Given the description of an element on the screen output the (x, y) to click on. 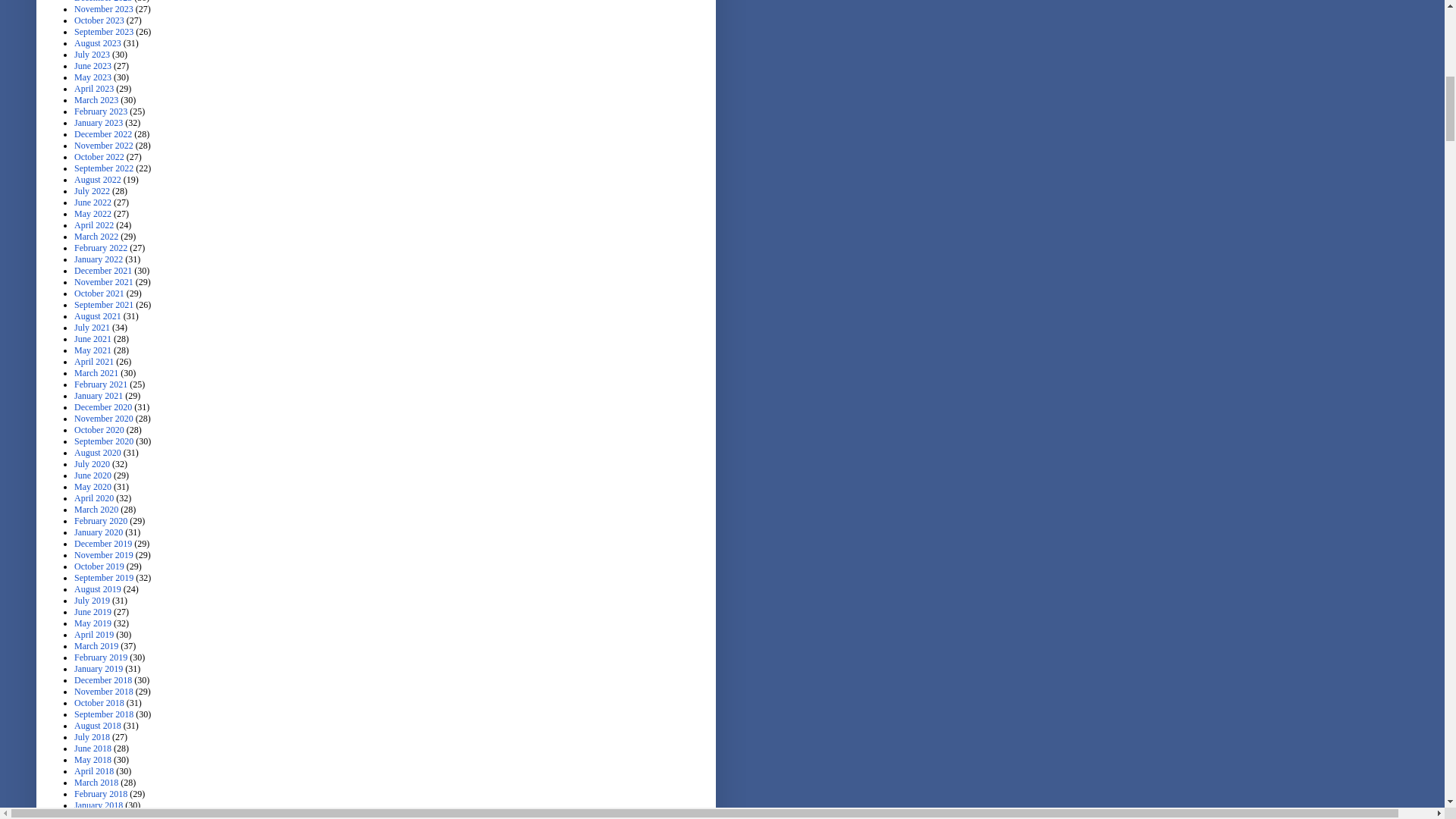
November 2023 (103, 9)
September 2023 (103, 31)
December 2023 (103, 1)
October 2023 (98, 20)
